Given the description of an element on the screen output the (x, y) to click on. 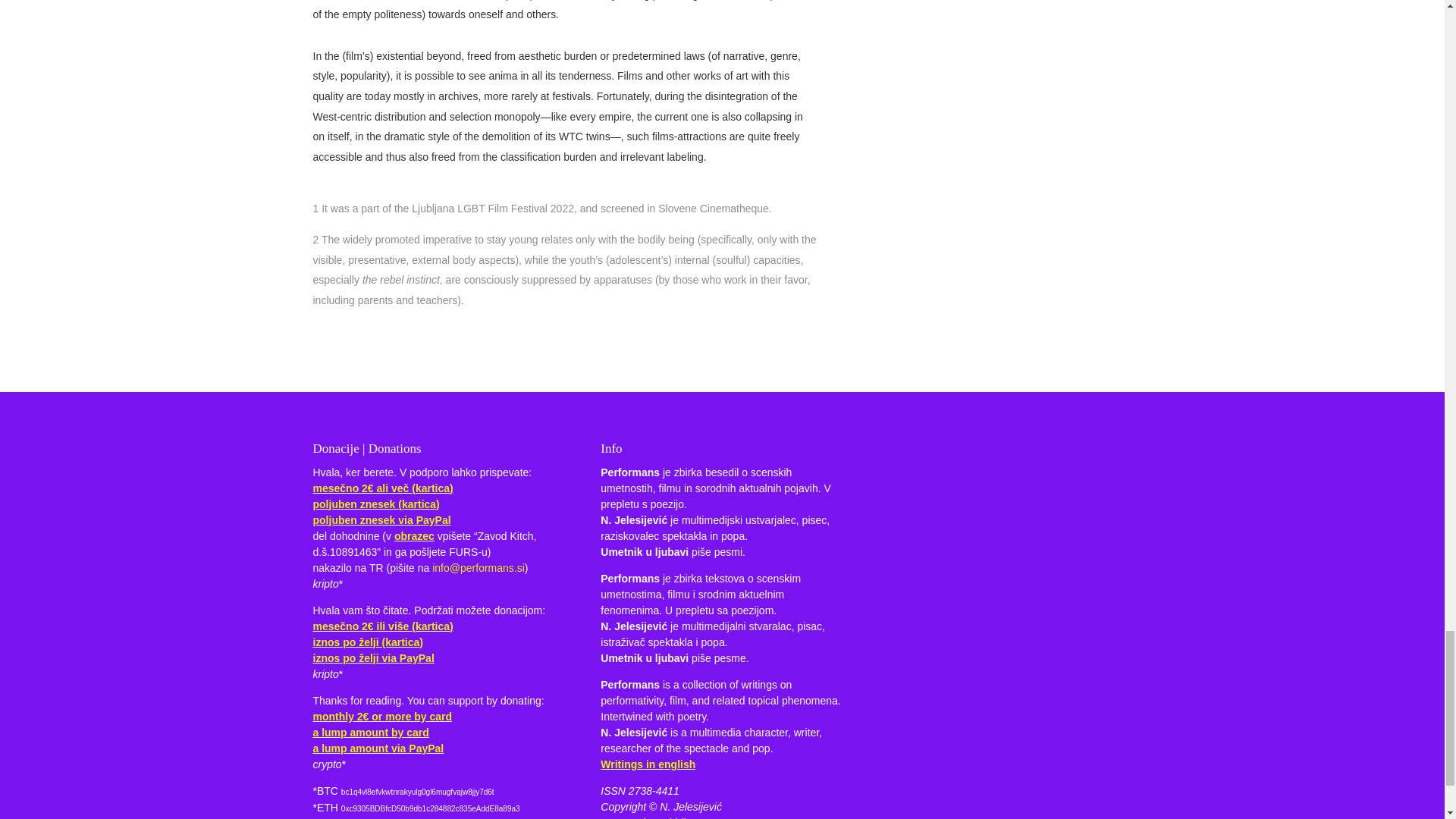
Writings in english (647, 764)
poljuben znesek via PayPal (381, 520)
a lump amount via PayPal (378, 748)
obrazec (413, 535)
a lump amount by card (370, 732)
